Given the description of an element on the screen output the (x, y) to click on. 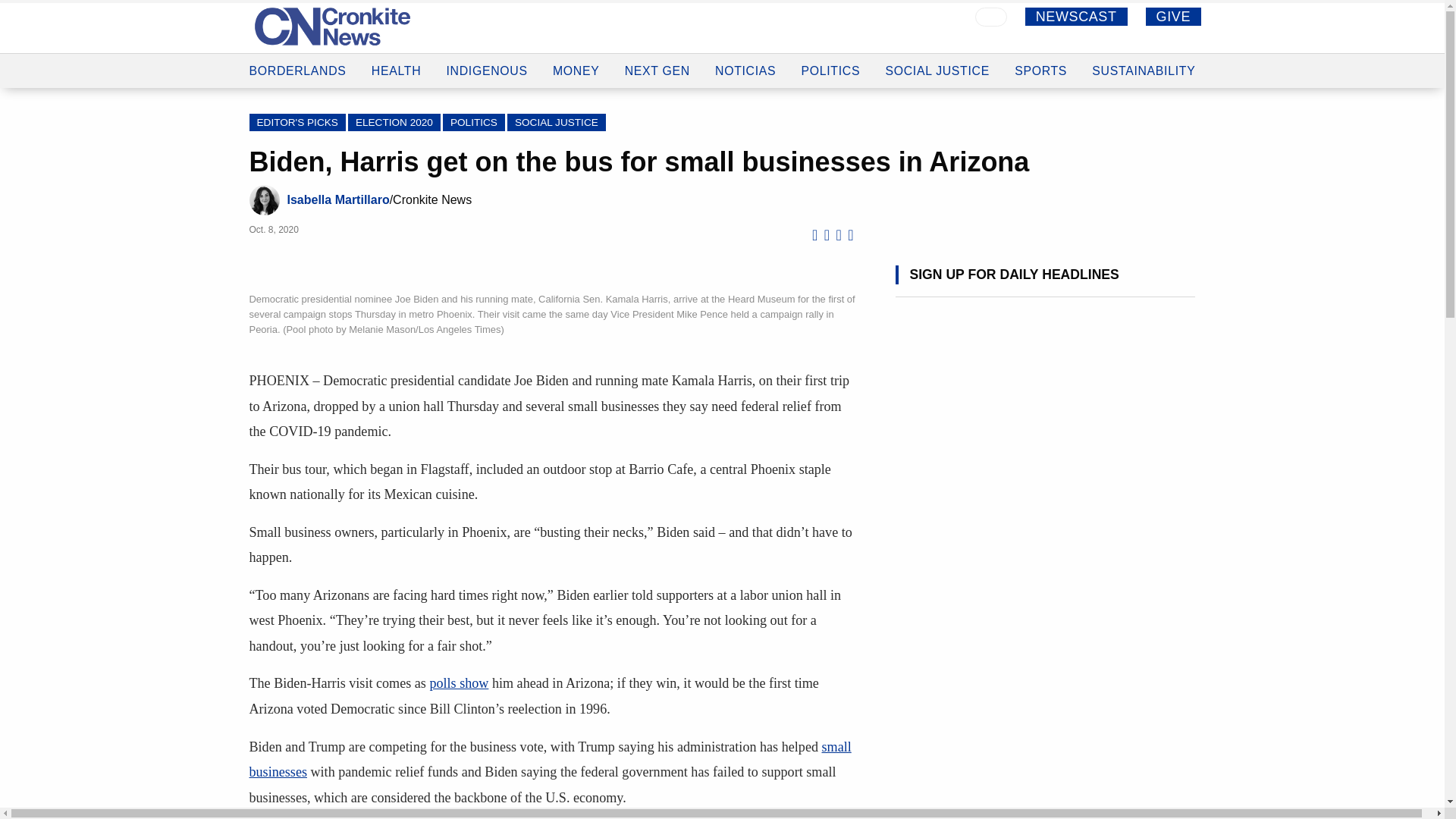
GIVE (1173, 16)
polls show (458, 683)
INDIGENOUS (486, 56)
small businesses (549, 758)
SUSTAINABILITY (1143, 68)
SPORTS (1040, 67)
POLITICS (831, 62)
NEXT GEN (657, 60)
NOTICIAS (745, 61)
SOCIAL JUSTICE (937, 65)
